Given the description of an element on the screen output the (x, y) to click on. 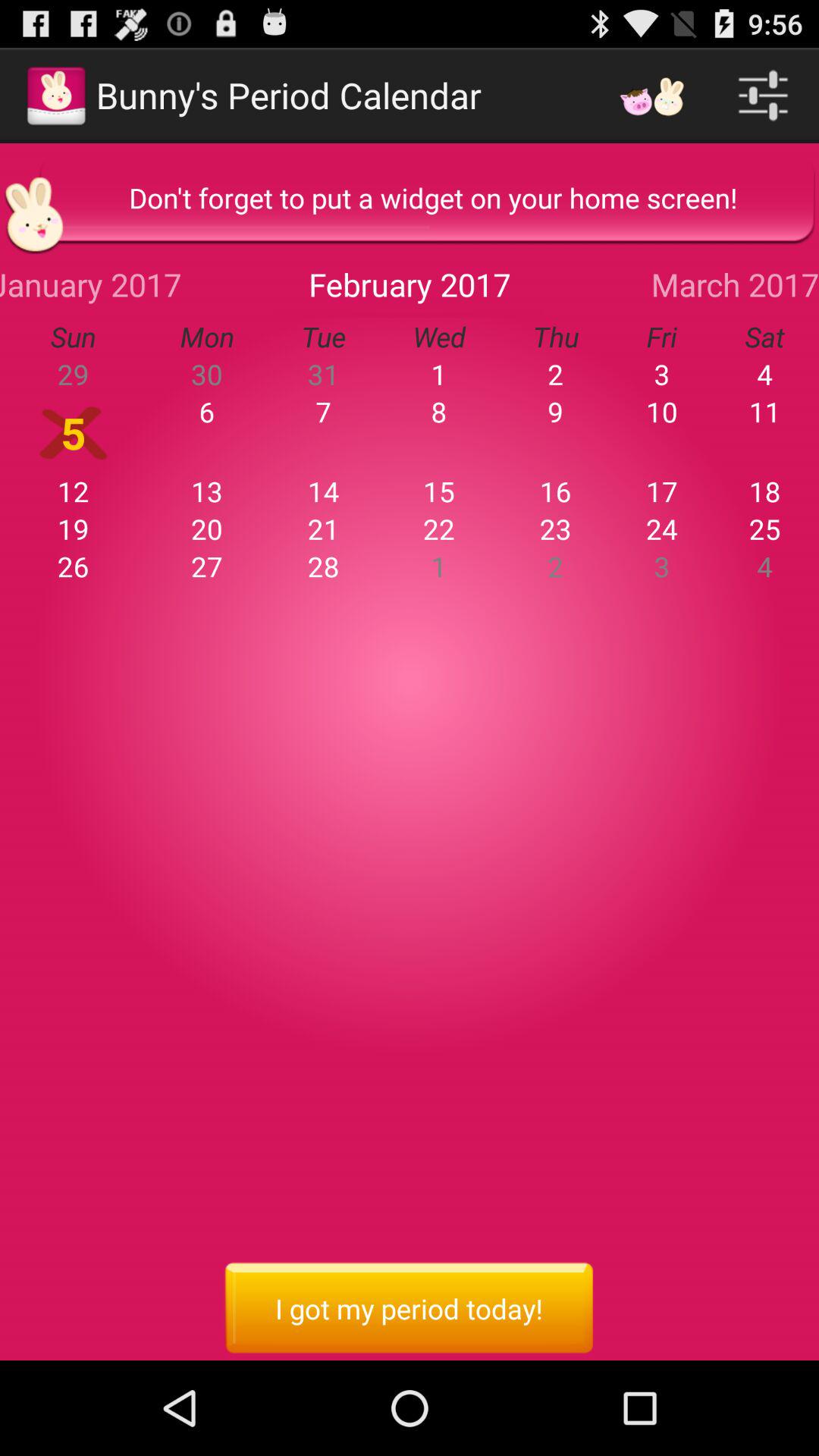
select the icon to the left of tue icon (90, 283)
